Given the description of an element on the screen output the (x, y) to click on. 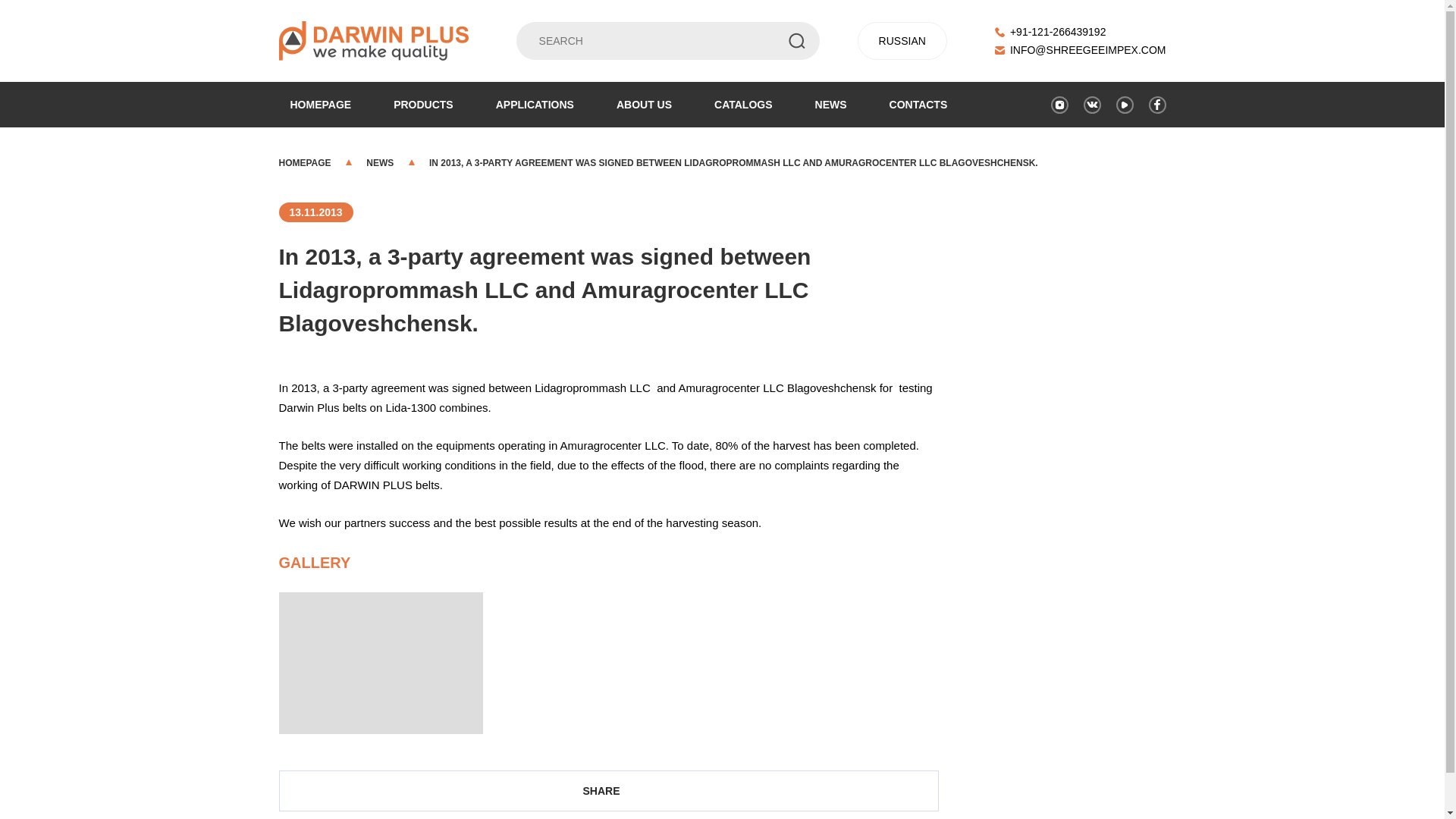
CATALOGS (743, 103)
HOMEPAGE (320, 103)
APPLICATIONS (534, 103)
PRODUCTS (422, 103)
NEWS (380, 163)
HOMEPAGE (306, 163)
CONTACTS (918, 103)
ABOUT US (643, 103)
NEWS (831, 103)
RUSSIAN (902, 40)
